Given the description of an element on the screen output the (x, y) to click on. 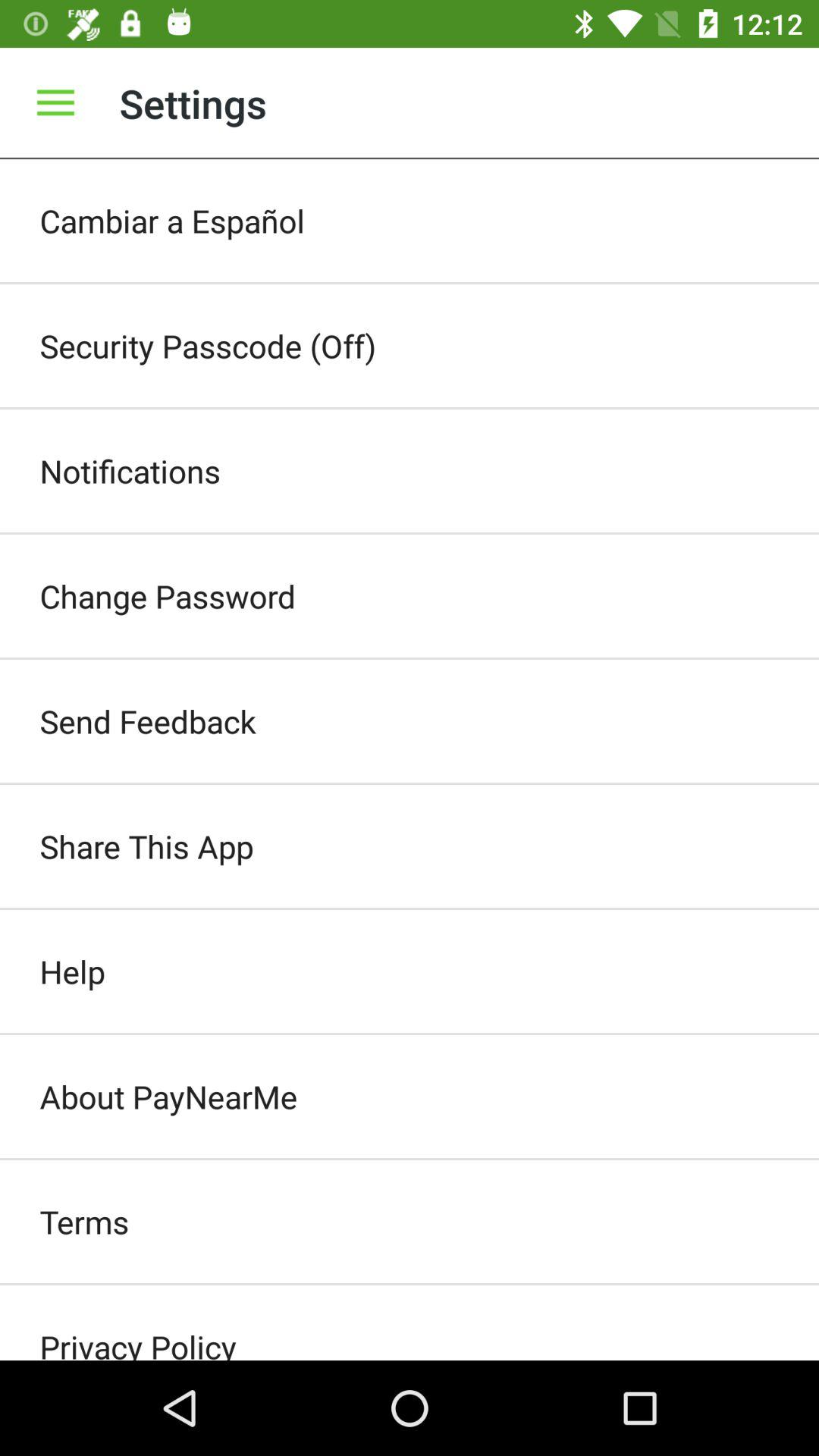
tap item above privacy policy item (409, 1221)
